Given the description of an element on the screen output the (x, y) to click on. 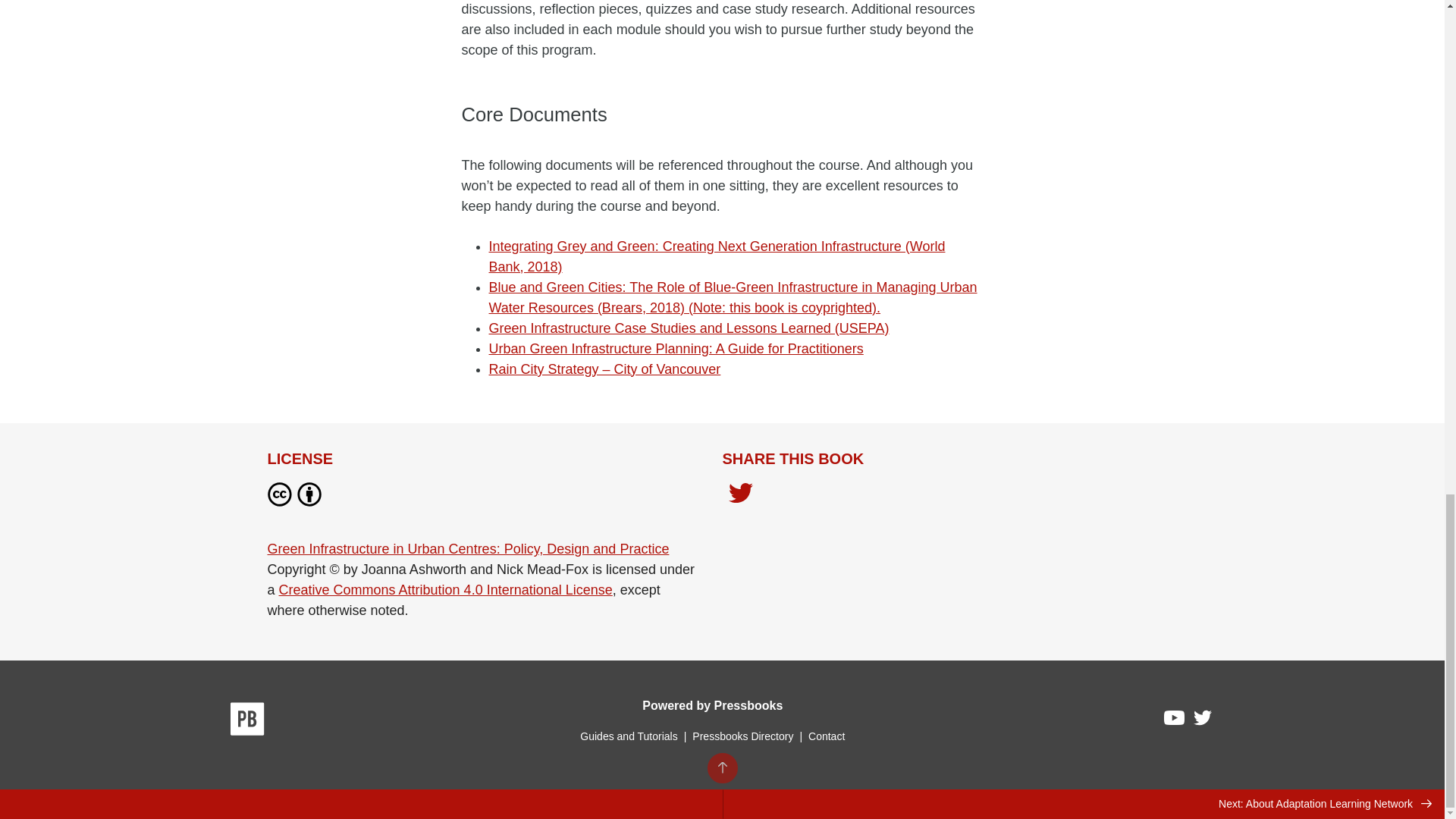
2019 - Vancouver Rain City Strategy.pdf (603, 368)
Contact (826, 736)
Share on Twitter (740, 496)
EPA Green Infrastructure Case Studies.pdf (687, 328)
Pressbooks Directory (742, 736)
Creative Commons Attribution 4.0 International License (445, 589)
Powered by Pressbooks (712, 705)
Share on Twitter (740, 494)
Pressbooks on YouTube (1174, 721)
Guides and Tutorials (627, 736)
